Given the description of an element on the screen output the (x, y) to click on. 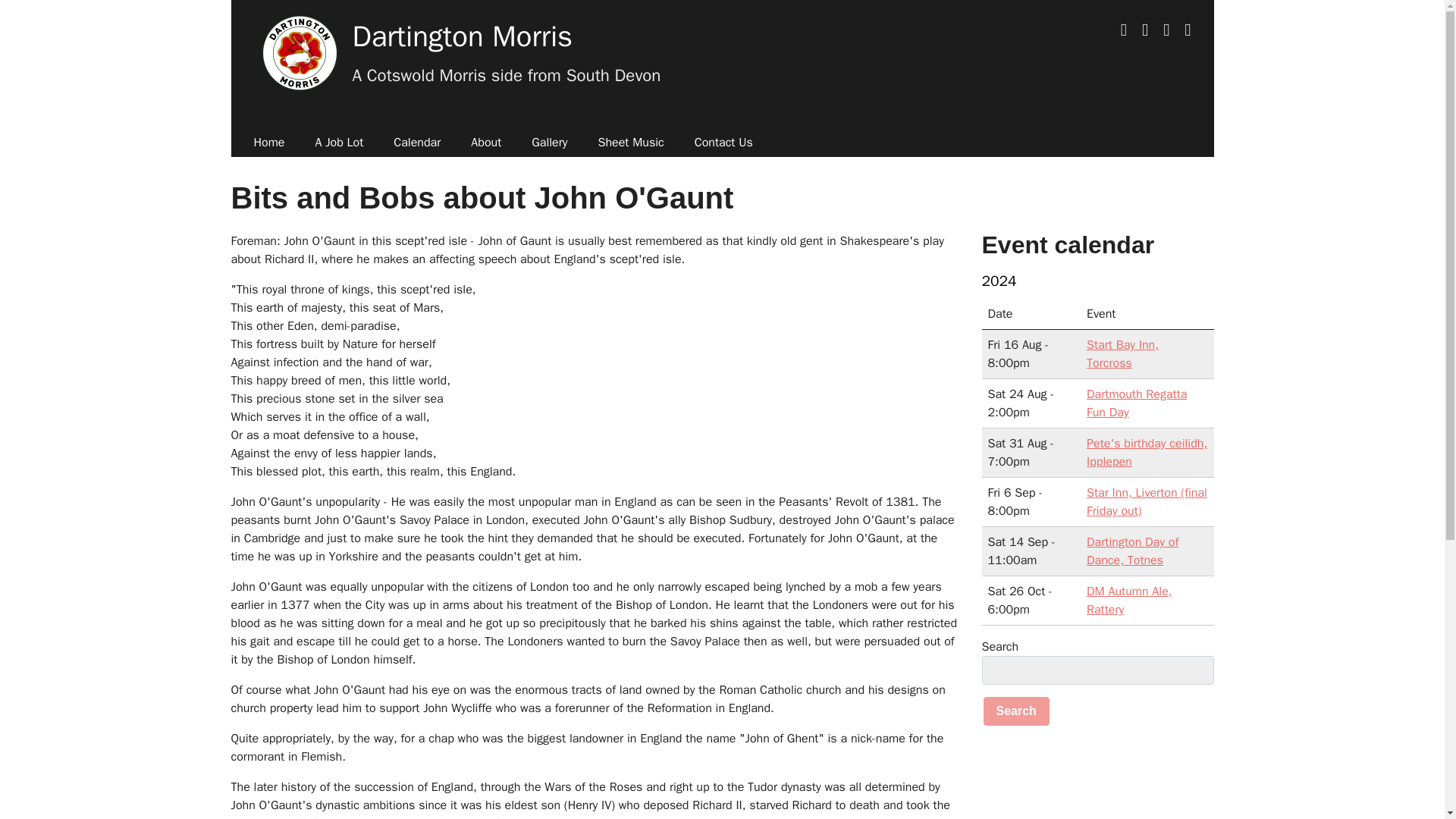
A Job Lot (338, 142)
Dartington Morris (462, 36)
Our latest music and song CD recording (338, 142)
Enter the keywords you wish to search for. (1096, 670)
About (485, 142)
Search (1015, 710)
Calendar (416, 142)
Home (268, 142)
Photo and video gallery (549, 142)
